Given the description of an element on the screen output the (x, y) to click on. 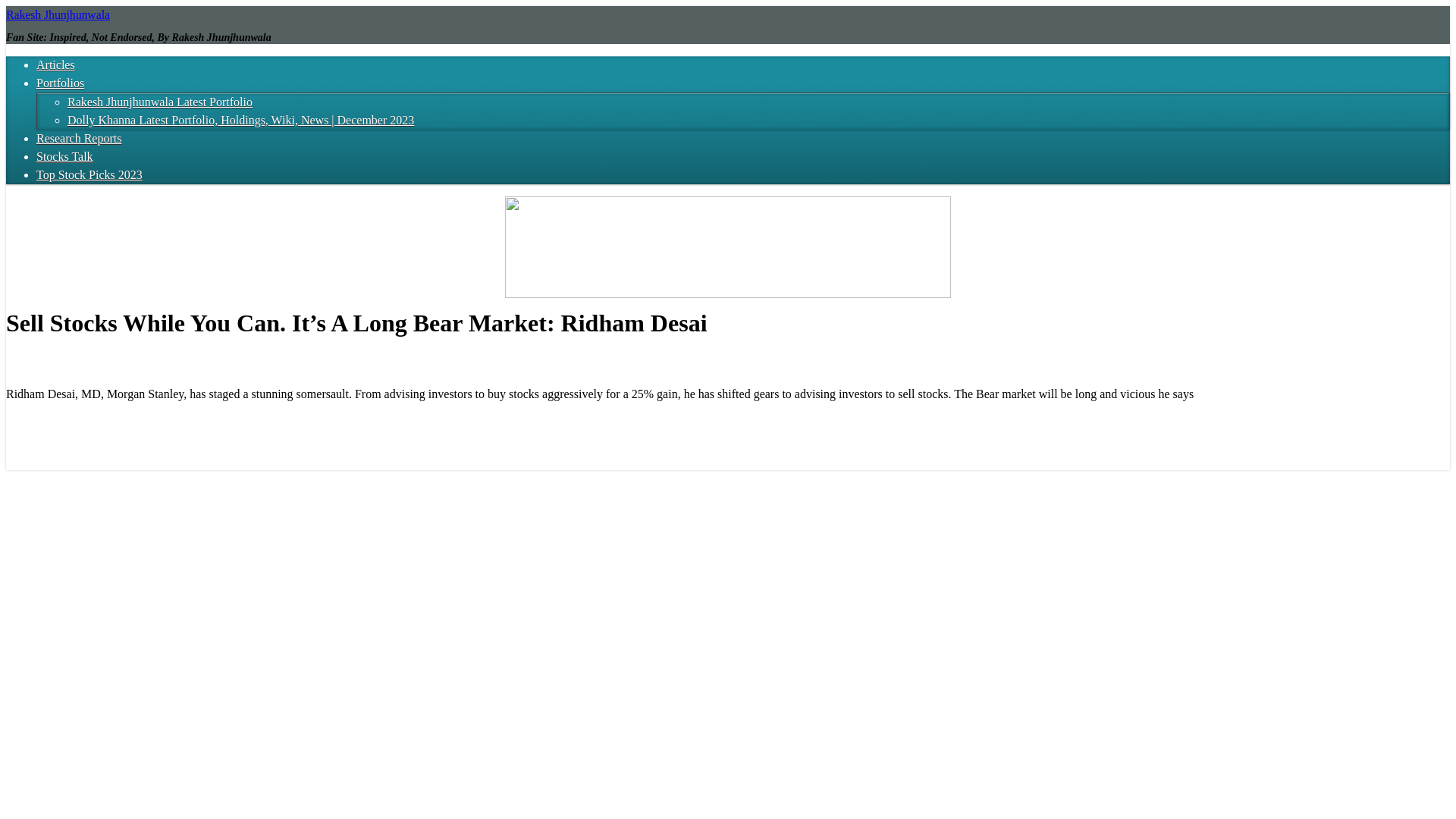
Articles (55, 64)
Stocks Talk (64, 155)
Portfolios (60, 82)
Top Stock Picks 2023 (89, 174)
Rakesh Jhunjhunwala (57, 14)
Rakesh Jhunjhunwala Latest Portfolio (158, 101)
Research Reports (78, 137)
